Given the description of an element on the screen output the (x, y) to click on. 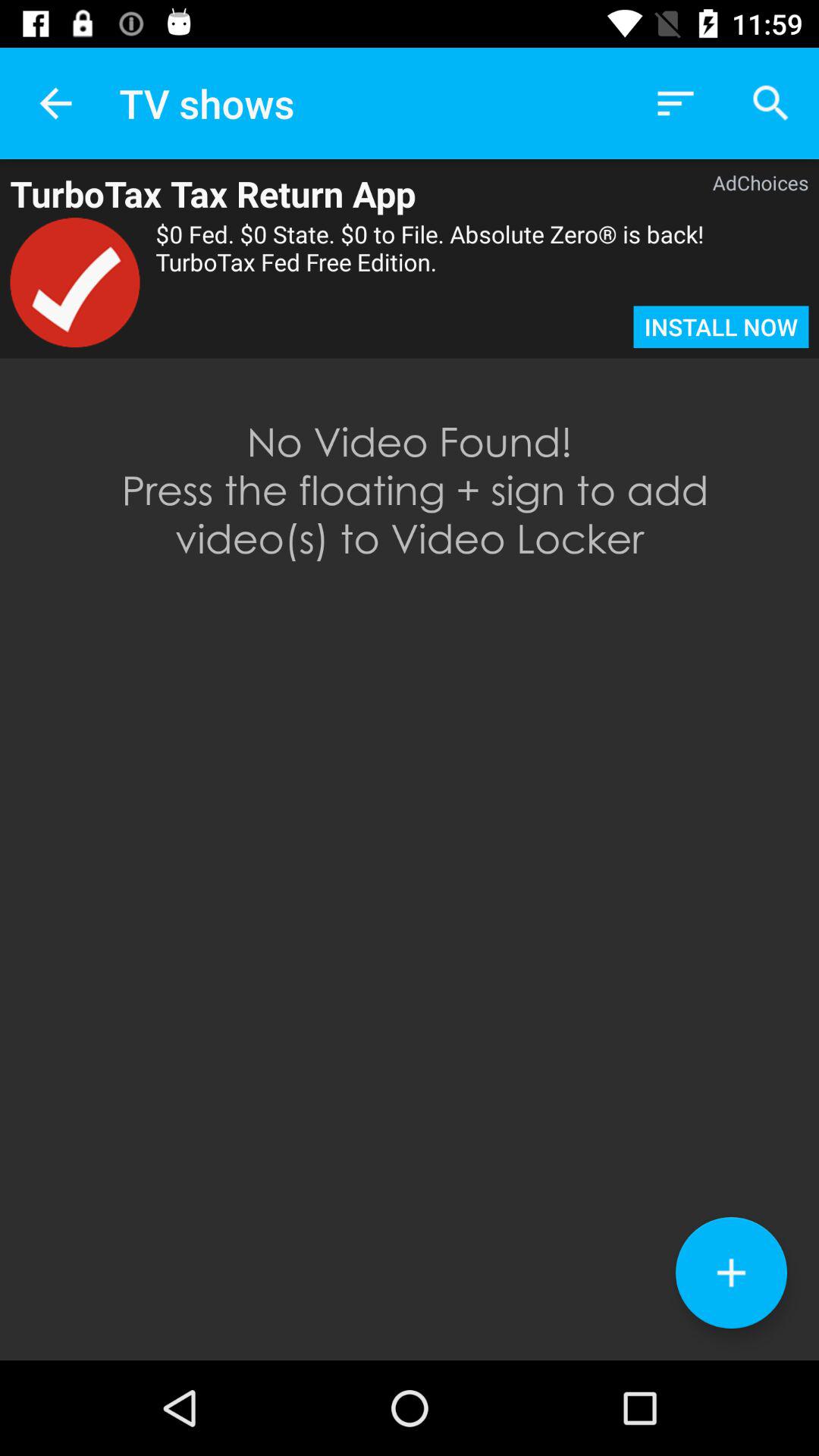
choose the icon above the no video found (74, 282)
